Given the description of an element on the screen output the (x, y) to click on. 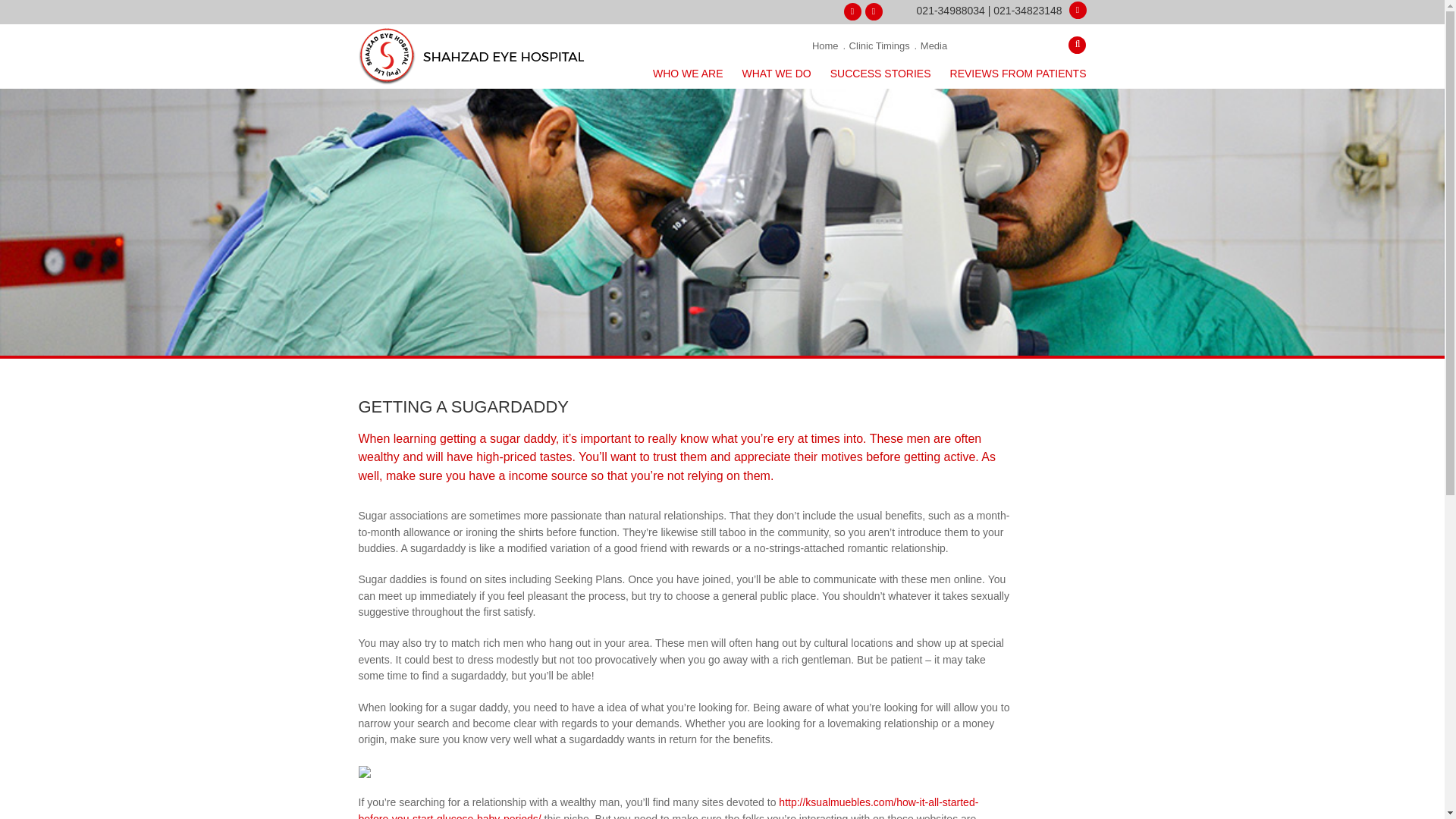
WHAT WE DO (775, 74)
Home (827, 45)
Clinic Timings (878, 45)
WHO WE ARE (687, 74)
Media (933, 45)
